Given the description of an element on the screen output the (x, y) to click on. 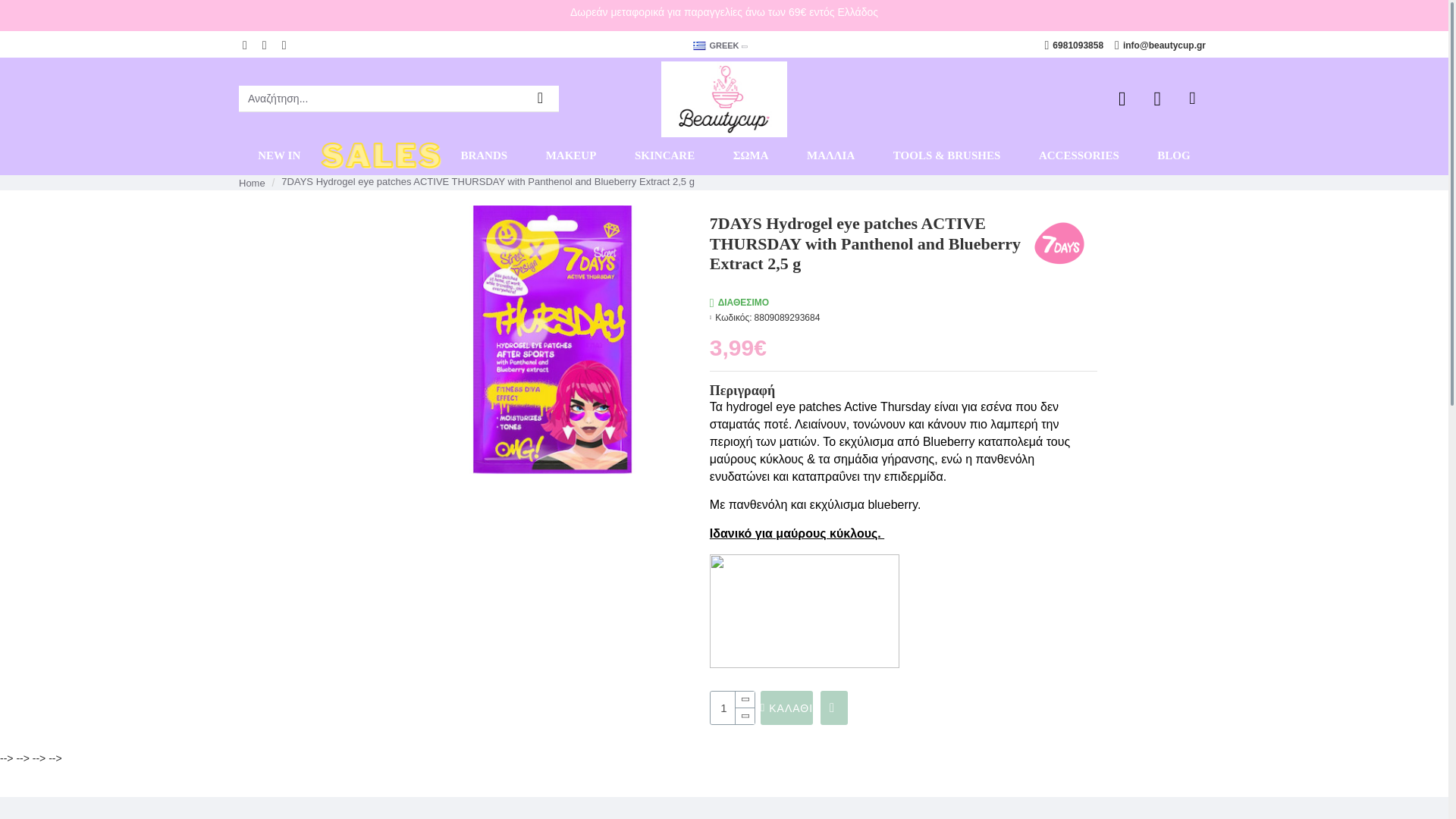
1 (732, 707)
Beautycup (724, 99)
6981093858 (1074, 46)
Greek (698, 45)
BRANDS (483, 156)
NEW IN (279, 156)
GREEK (715, 46)
